Given the description of an element on the screen output the (x, y) to click on. 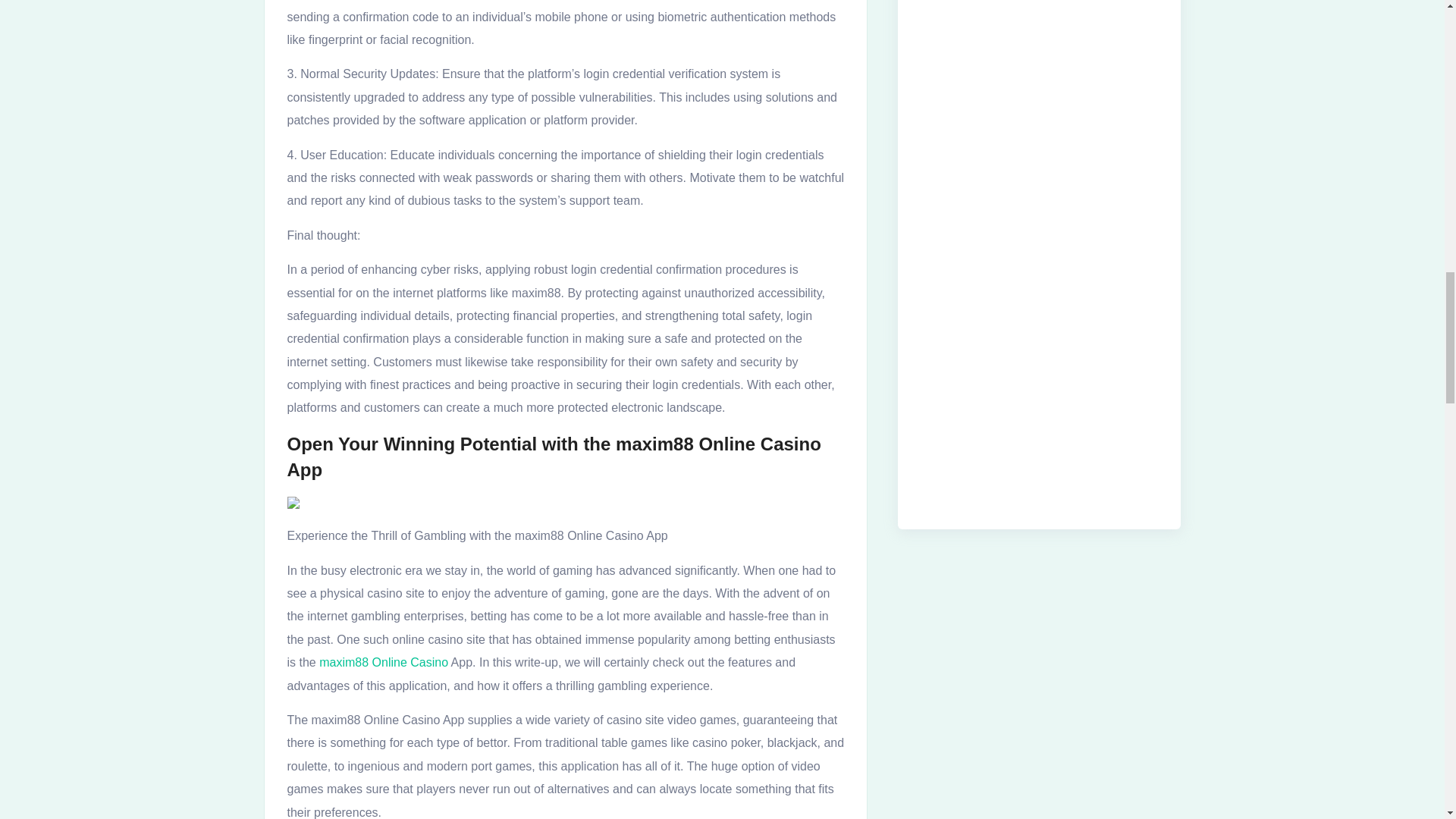
maxim88 Online Casino (383, 662)
